Given the description of an element on the screen output the (x, y) to click on. 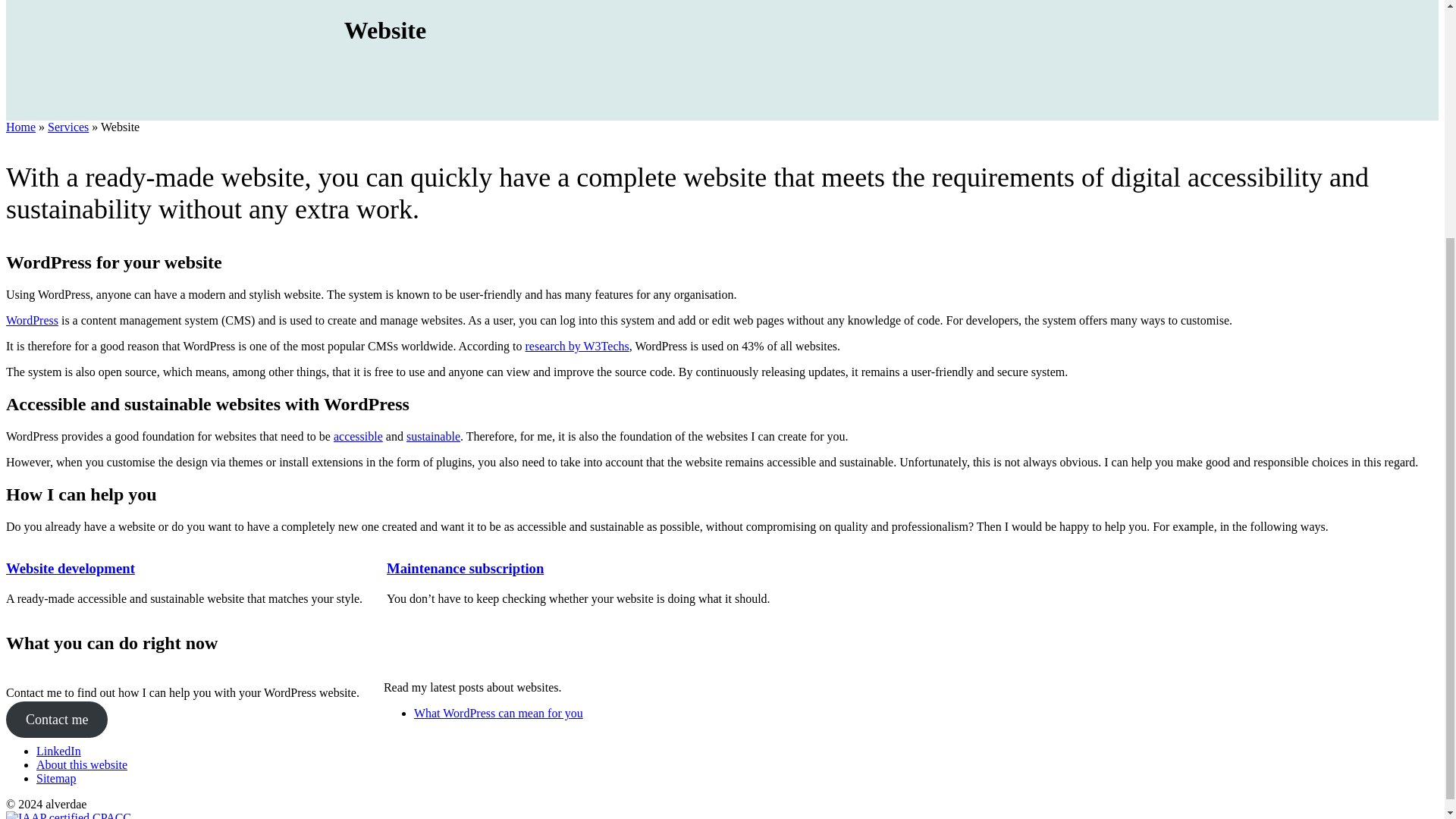
What WordPress can mean for you (498, 712)
accessible (357, 436)
research by W3Techs (576, 345)
Website development (70, 568)
Contact me (56, 719)
LinkedIn (58, 750)
sustainable (433, 436)
About this website (82, 764)
Sitemap (55, 778)
Services (68, 126)
WordPress (31, 319)
Maintenance subscription (465, 568)
Home (19, 126)
